Given the description of an element on the screen output the (x, y) to click on. 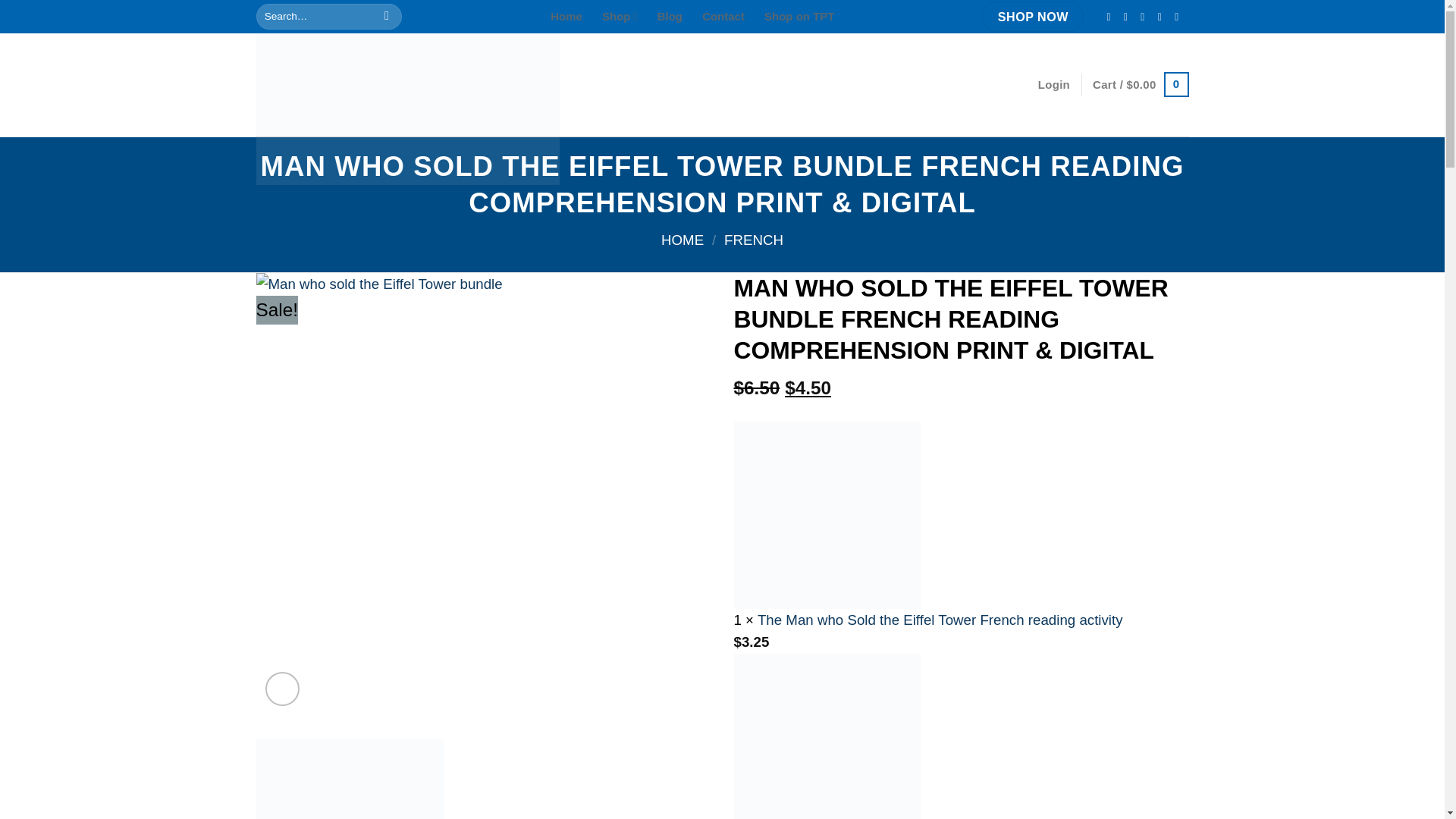
FRENCH (753, 239)
Contact (722, 16)
Login (1054, 84)
Cart (1140, 84)
Login (1054, 84)
HOME (682, 239)
SHOP NOW (1032, 16)
Search (386, 17)
Home (566, 16)
Shop on TPT (799, 16)
Shop (619, 16)
